Given the description of an element on the screen output the (x, y) to click on. 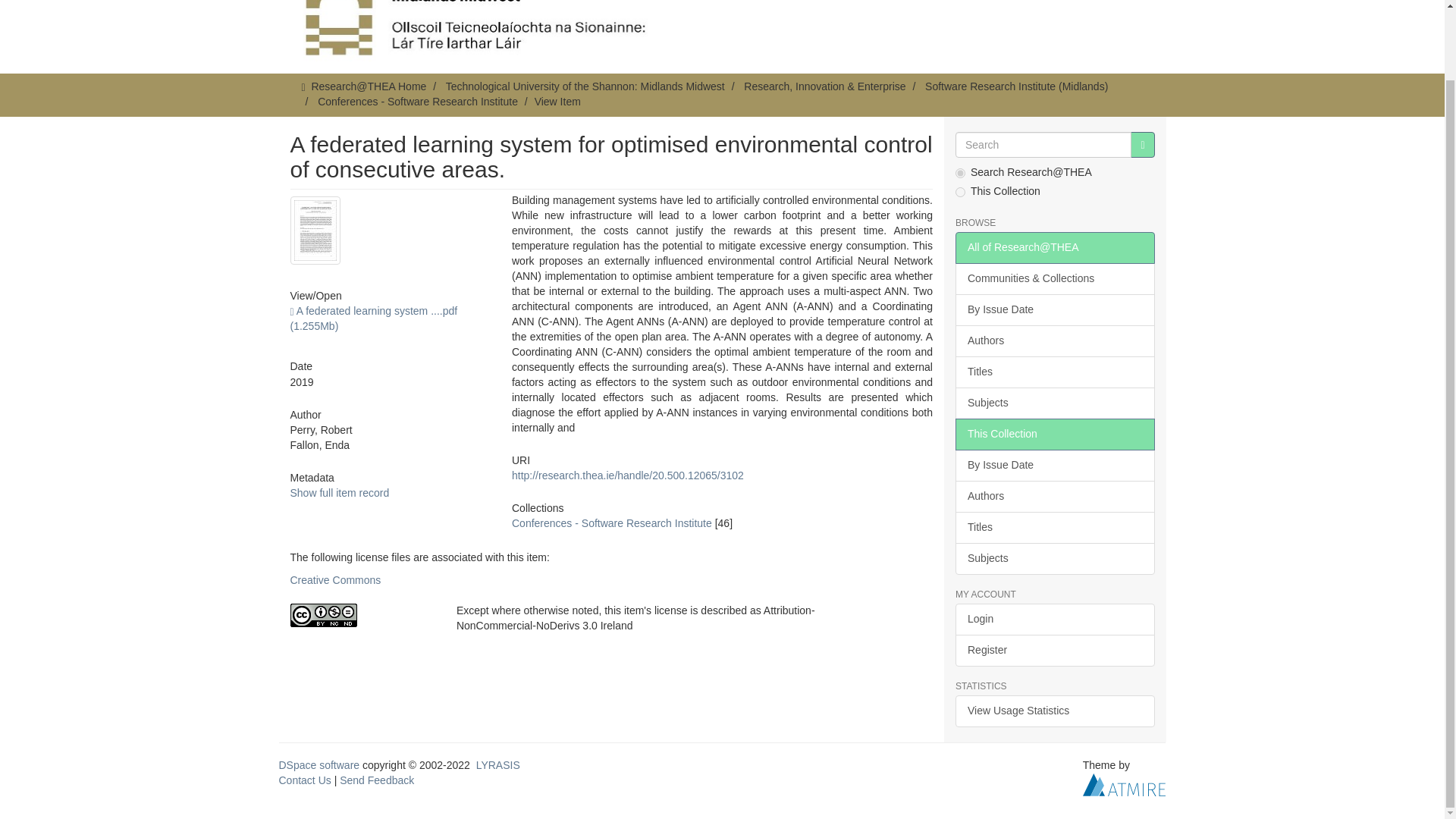
Atmire NV (1124, 784)
Subjects (1054, 403)
Titles (1054, 527)
Conferences - Software Research Institute (611, 522)
Conferences - Software Research Institute (417, 101)
Attribution-NonCommercial-NoDerivs 3.0 Ireland (360, 615)
Creative Commons (334, 580)
Authors (1054, 341)
Go (1142, 144)
This Collection (1054, 434)
Titles (1054, 372)
Show full item record (338, 492)
Authors (1054, 496)
Technological University of the Shannon: Midlands Midwest (585, 86)
By Issue Date (1054, 465)
